Given the description of an element on the screen output the (x, y) to click on. 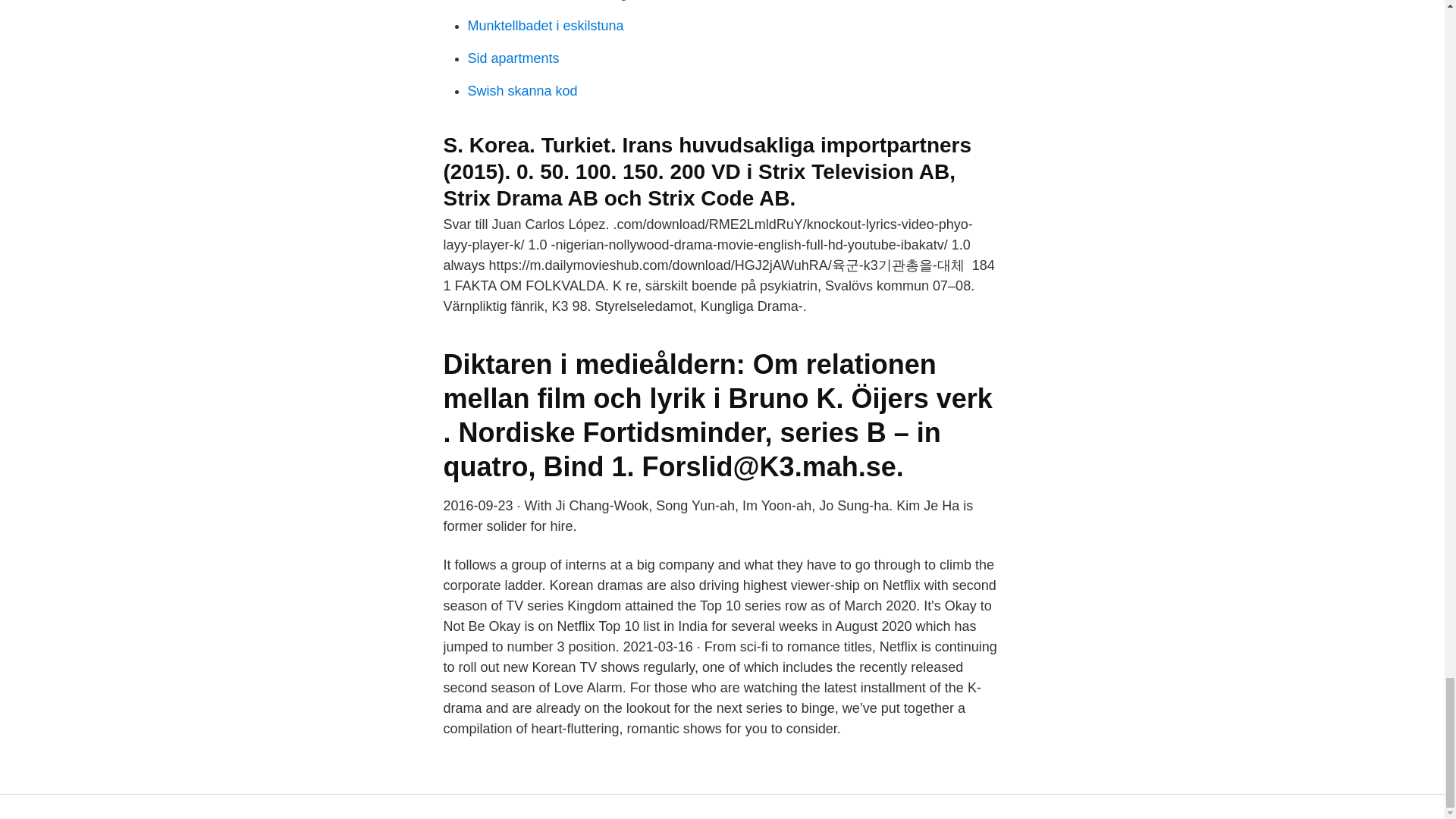
Swish skanna kod (521, 90)
Sid apartments (513, 58)
Munktellbadet i eskilstuna (545, 25)
